Given the description of an element on the screen output the (x, y) to click on. 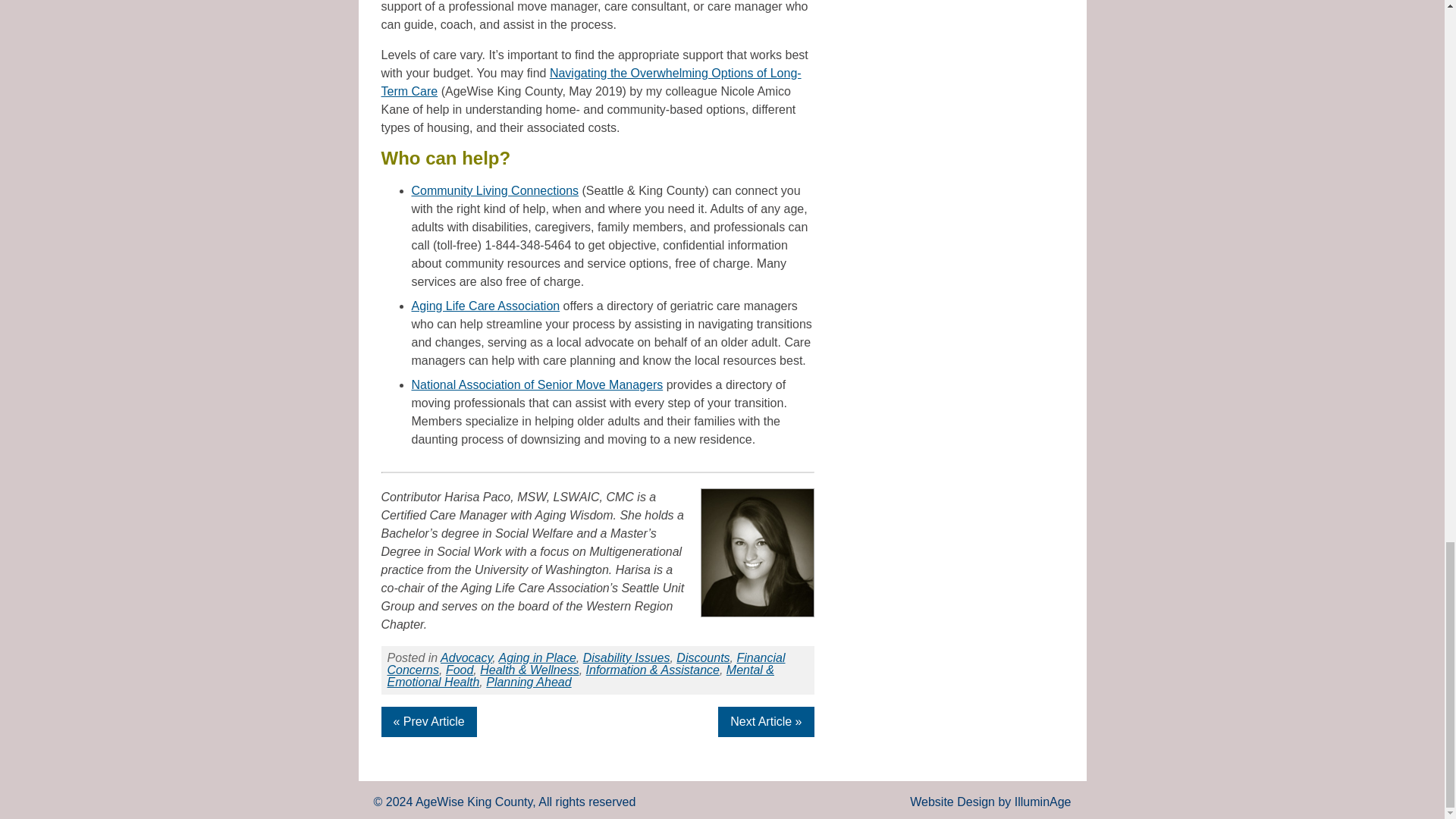
Aging Life Care Association (484, 305)
Advocacy (466, 657)
National Association of Senior Move Managers (536, 384)
Food (459, 669)
Aging in Place (537, 657)
Planning Ahead (528, 681)
Community Living Connections (494, 190)
Financial Concerns (585, 663)
Disability Issues (626, 657)
Navigating the Overwhelming Options of Long-Term Care (590, 81)
Discounts (703, 657)
